Given the description of an element on the screen output the (x, y) to click on. 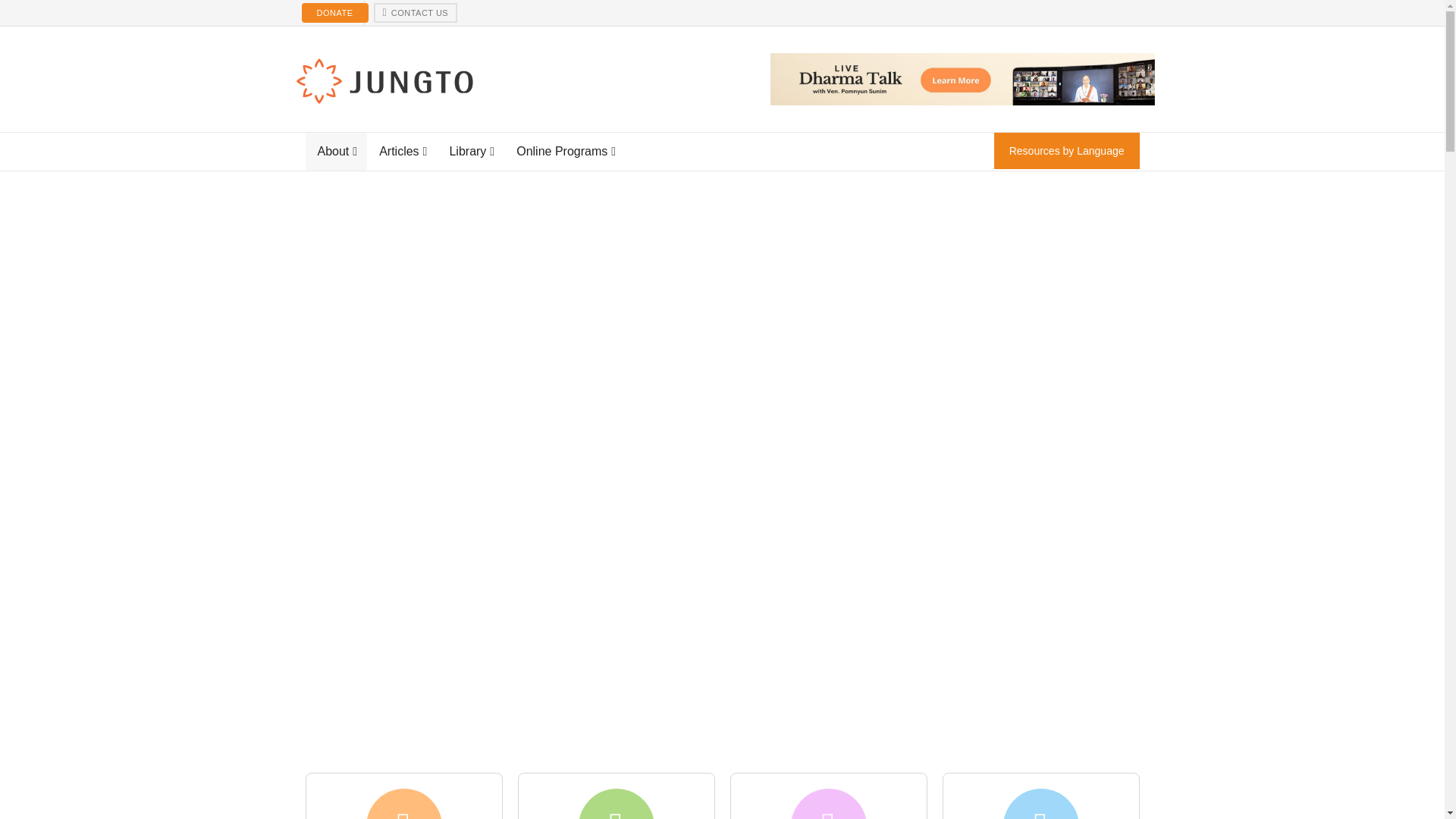
Articles (401, 151)
Online Programs (564, 151)
CONTACT US (416, 12)
DONATE (334, 12)
Library (469, 151)
Resources by Language (1067, 150)
About (335, 151)
